Given the description of an element on the screen output the (x, y) to click on. 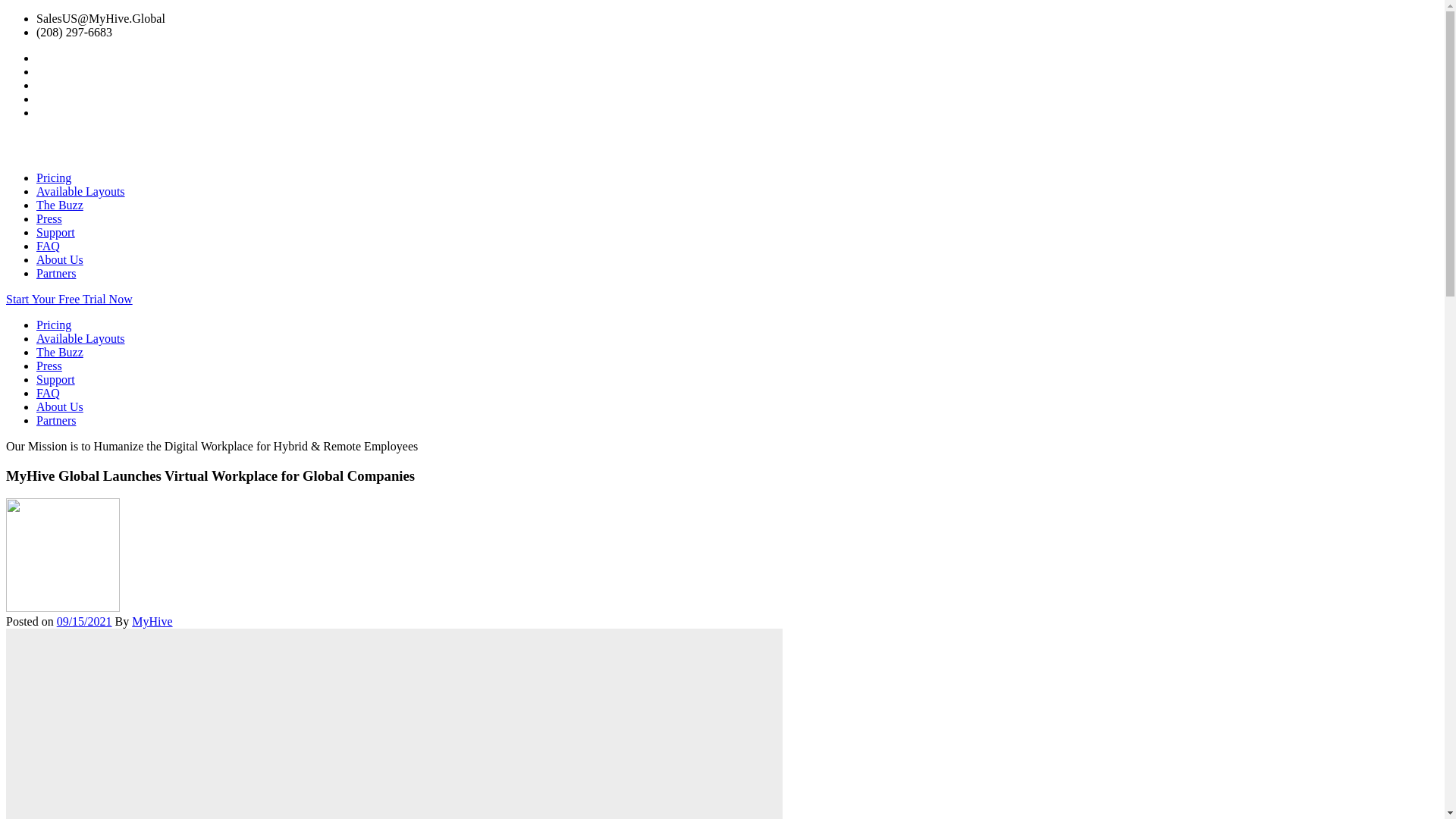
Pricing (53, 177)
Available Layouts (80, 191)
The Buzz (59, 205)
Support (55, 379)
FAQ (47, 245)
About Us (59, 406)
Press (49, 218)
Pricing (53, 324)
Partners (55, 273)
Start Your Free Trial Now (68, 298)
